Given the description of an element on the screen output the (x, y) to click on. 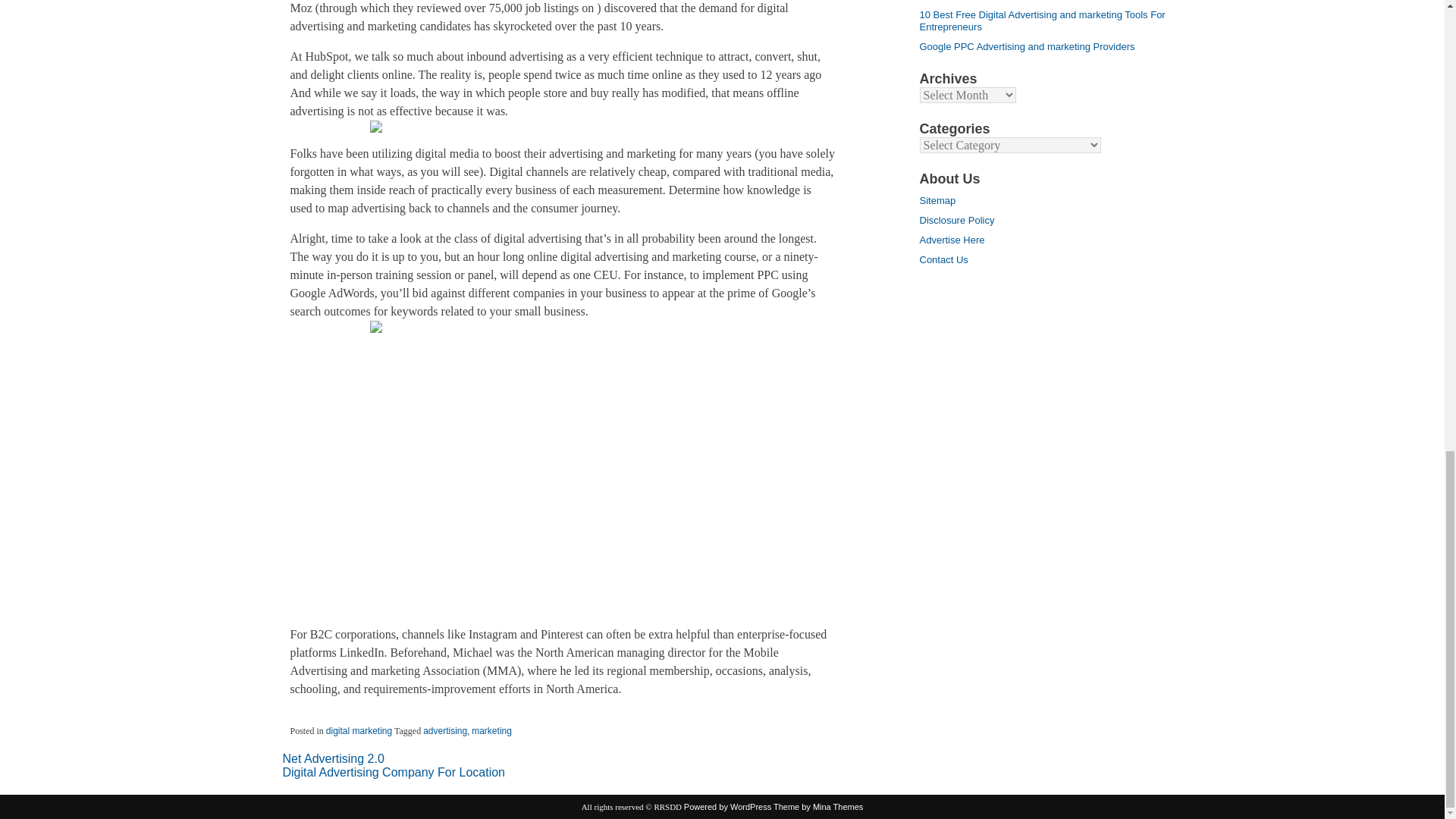
WordPress (727, 806)
Wordpress theme (818, 806)
digital marketing (358, 730)
advertising (445, 730)
